Given the description of an element on the screen output the (x, y) to click on. 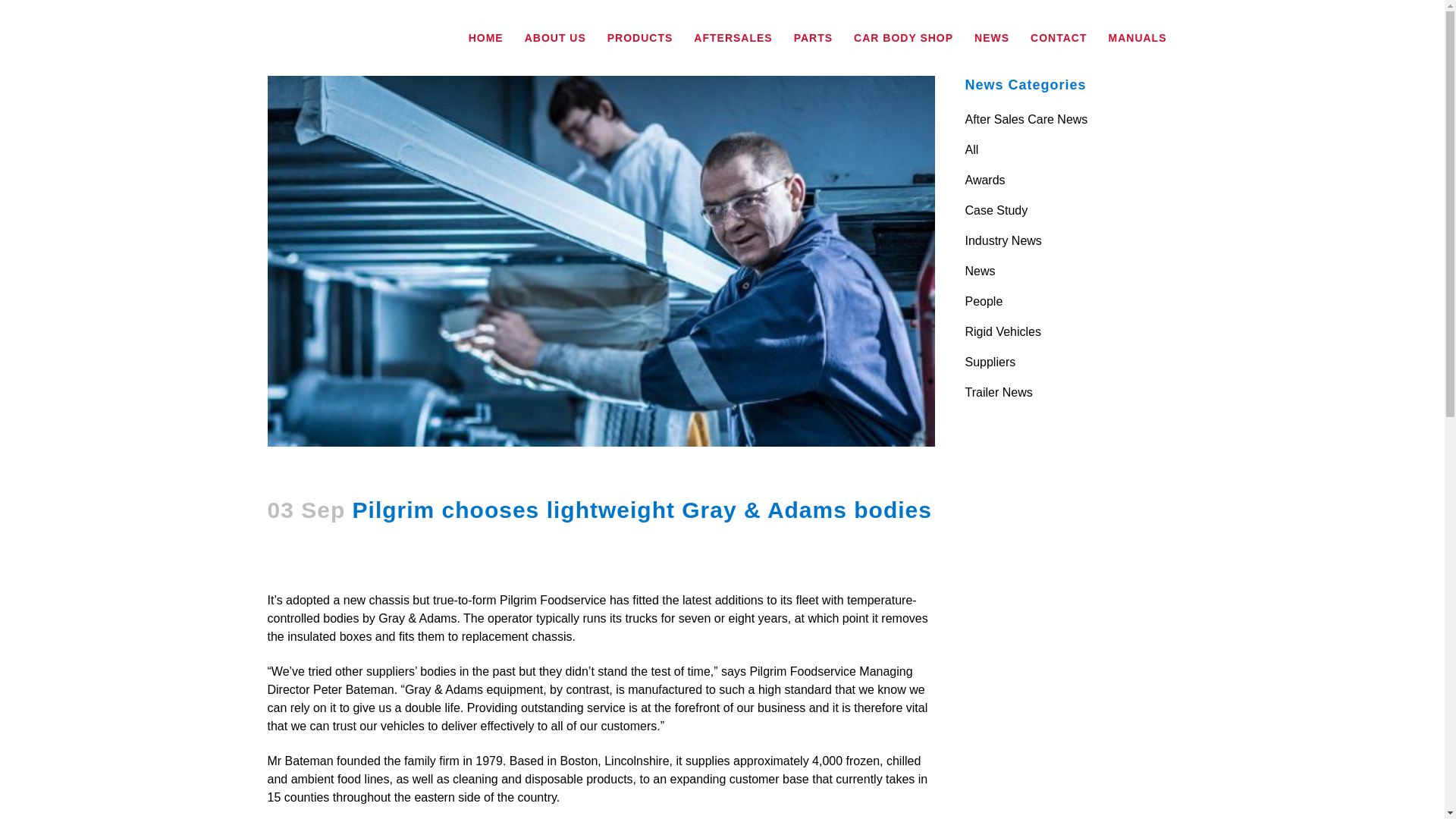
MANUALS (1137, 38)
AFTERSALES (732, 38)
ABOUT US (554, 38)
PRODUCTS (640, 38)
CAR BODY SHOP (903, 38)
CONTACT (1058, 38)
